Given the description of an element on the screen output the (x, y) to click on. 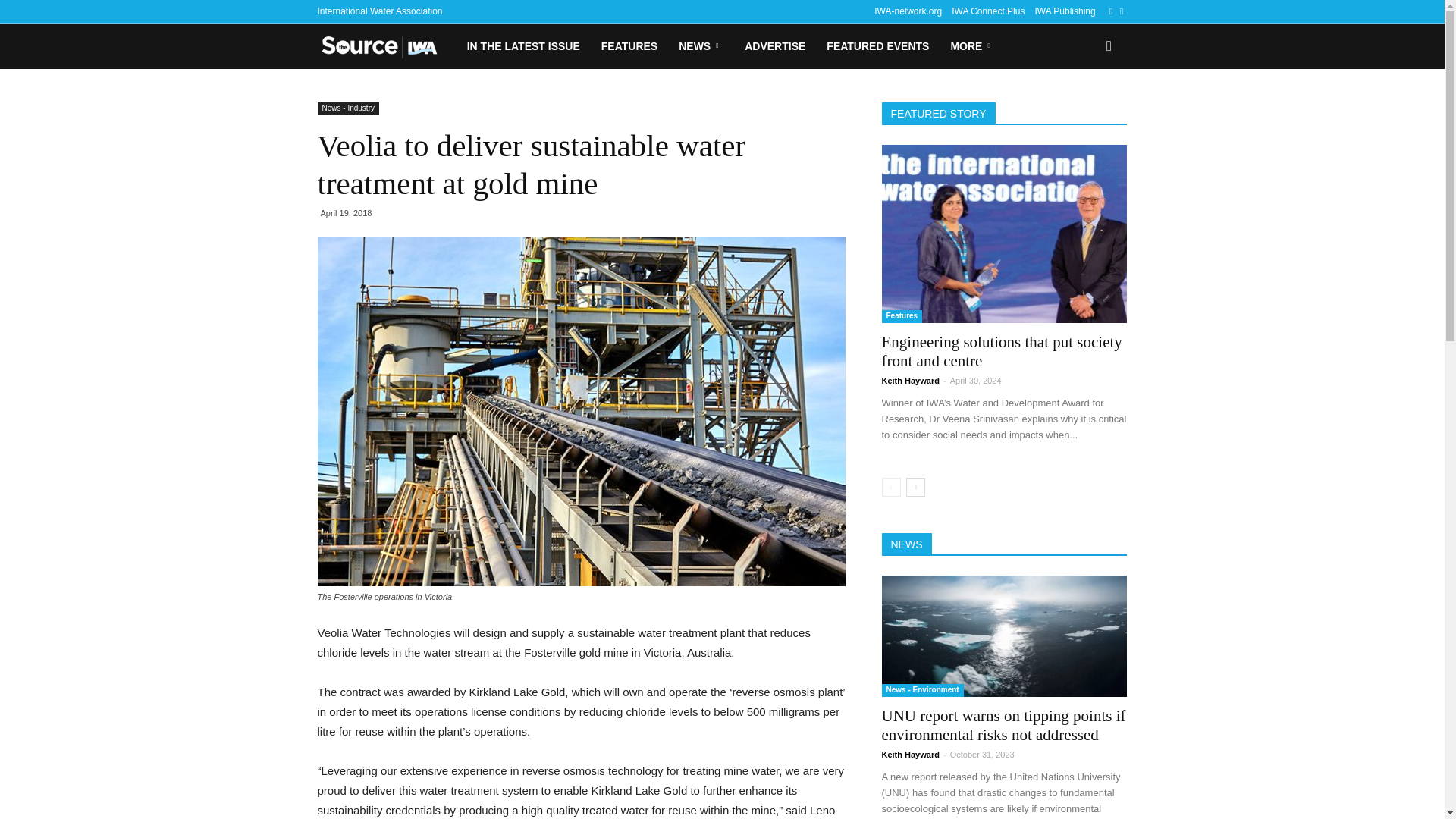
NEWS (700, 45)
ADVERTISE (774, 45)
IN THE LATEST ISSUE (524, 45)
Engineering solutions that put society front and centre (1003, 233)
Engineering solutions that put society front and centre (1000, 351)
IWA-network.org (908, 11)
FEATURES (629, 45)
IWA Publishing (1063, 11)
IWA Connect Plus (988, 11)
The Source (386, 46)
